Given the description of an element on the screen output the (x, y) to click on. 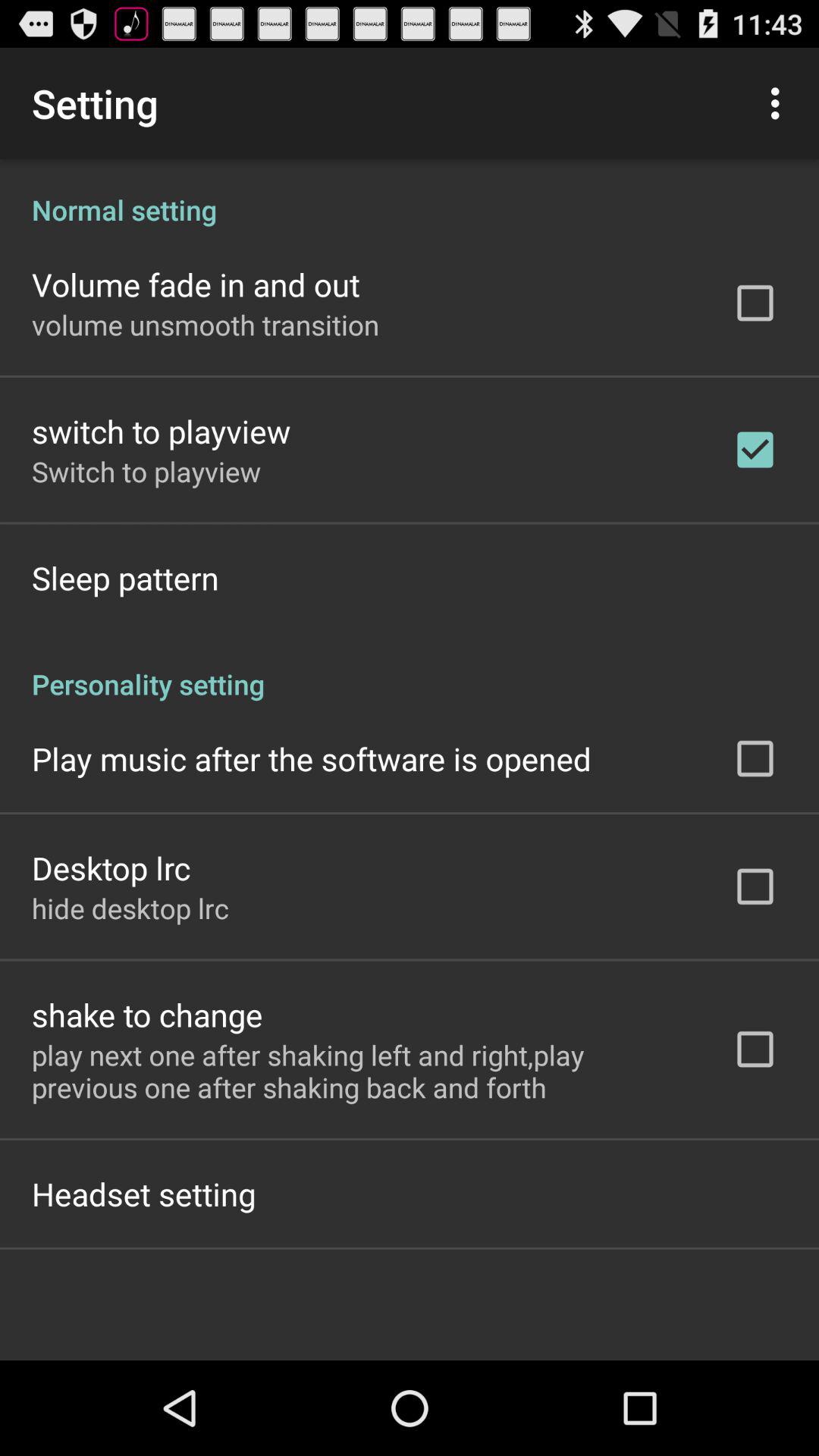
turn on the item above the play next one app (146, 1014)
